Given the description of an element on the screen output the (x, y) to click on. 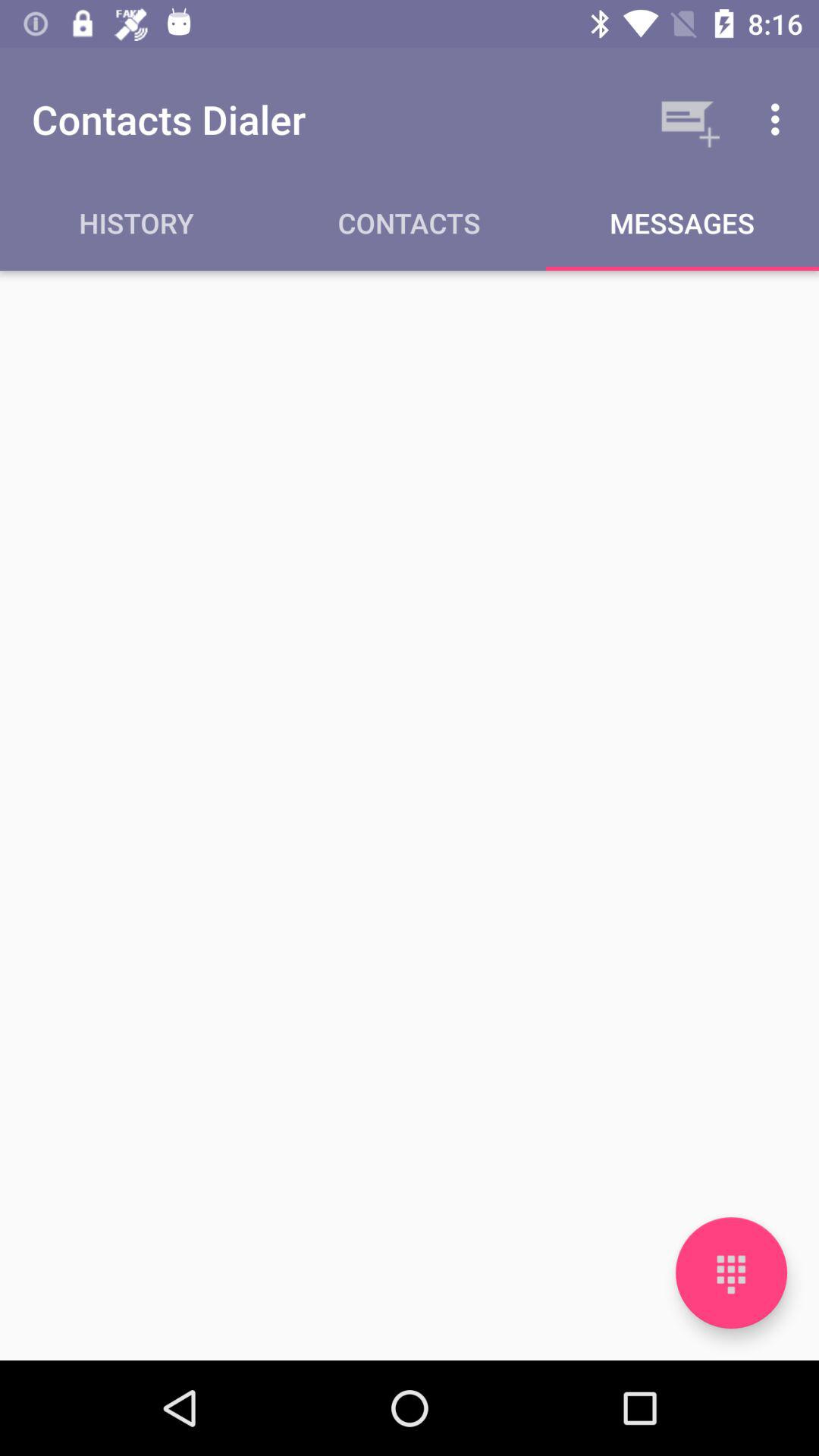
open number pad (731, 1272)
